Given the description of an element on the screen output the (x, y) to click on. 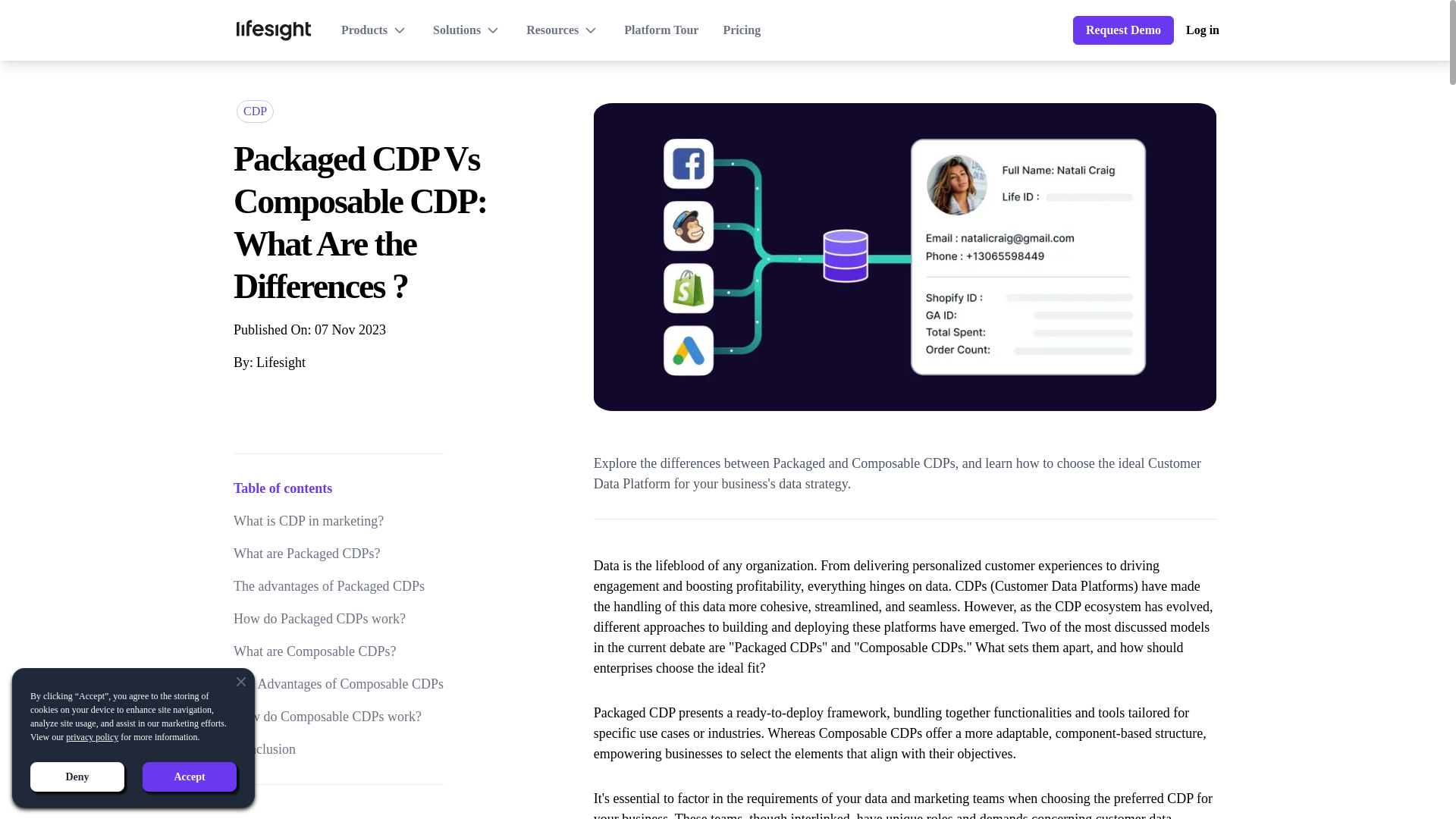
How do Composable CDPs work? (338, 716)
Conclusion (338, 749)
The advantages of Packaged CDPs (338, 586)
How do Composable CDPs work? (338, 716)
The Advantages of Composable CDPs (338, 684)
Conclusion (338, 749)
Lifesight (280, 362)
Request Demo (1123, 30)
Log in (1203, 29)
privacy policy (91, 737)
